Given the description of an element on the screen output the (x, y) to click on. 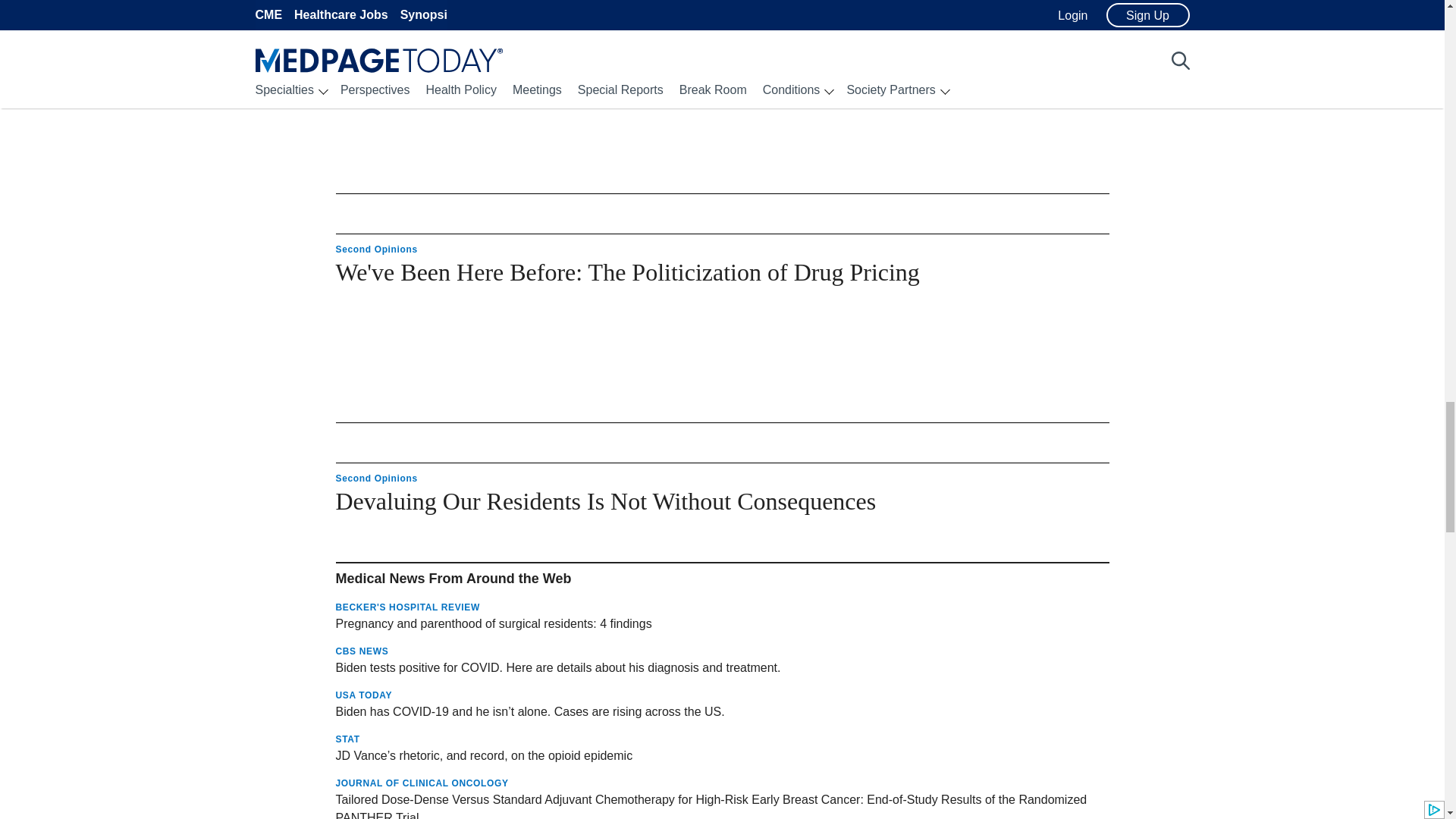
Opens in a new tab or window (721, 668)
Opens in a new tab or window (721, 624)
